Given the description of an element on the screen output the (x, y) to click on. 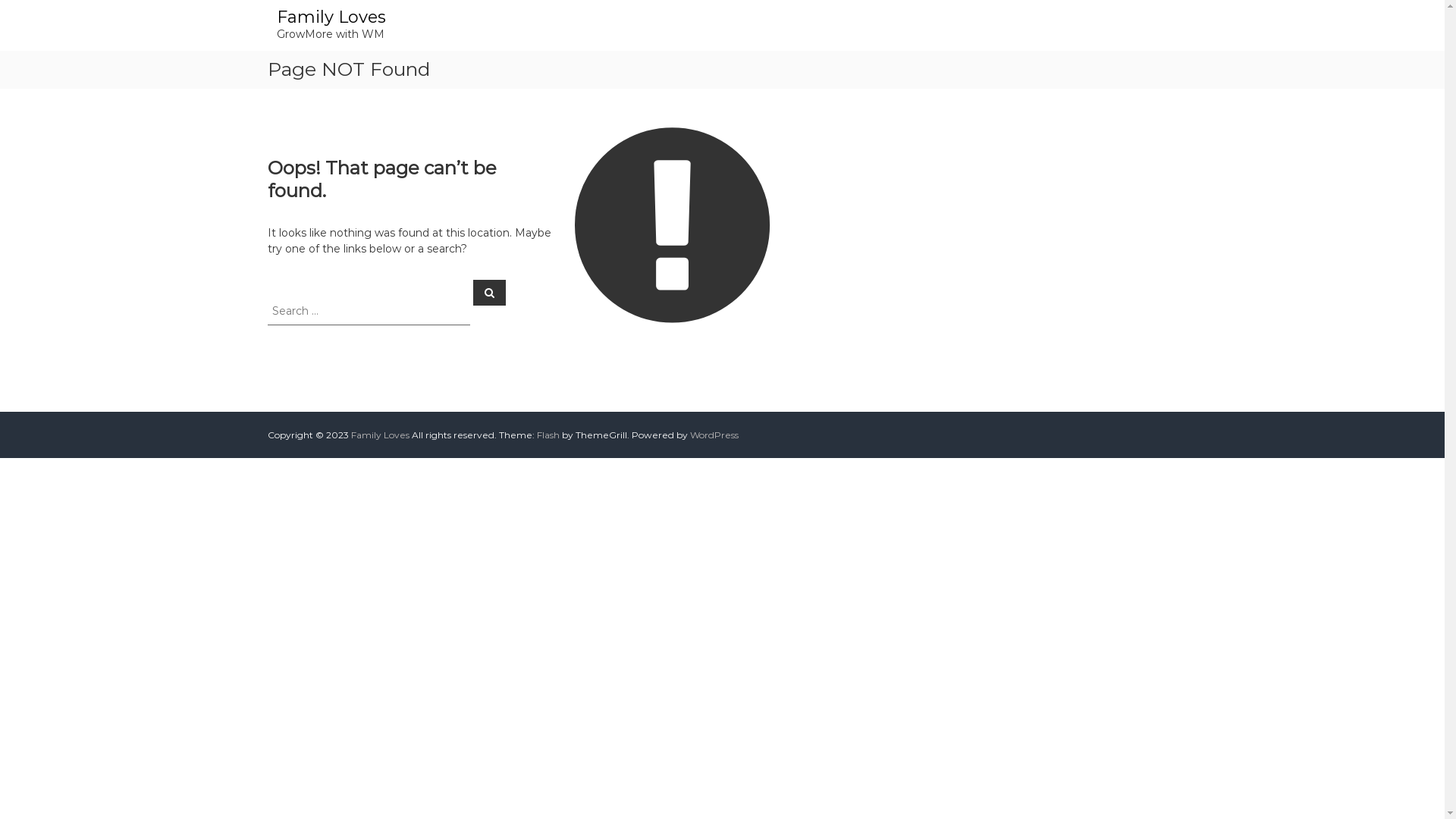
Family Loves Element type: text (330, 16)
Family Loves Element type: text (379, 434)
WordPress Element type: text (714, 434)
Flash Element type: text (547, 434)
Search Element type: text (489, 291)
